Given the description of an element on the screen output the (x, y) to click on. 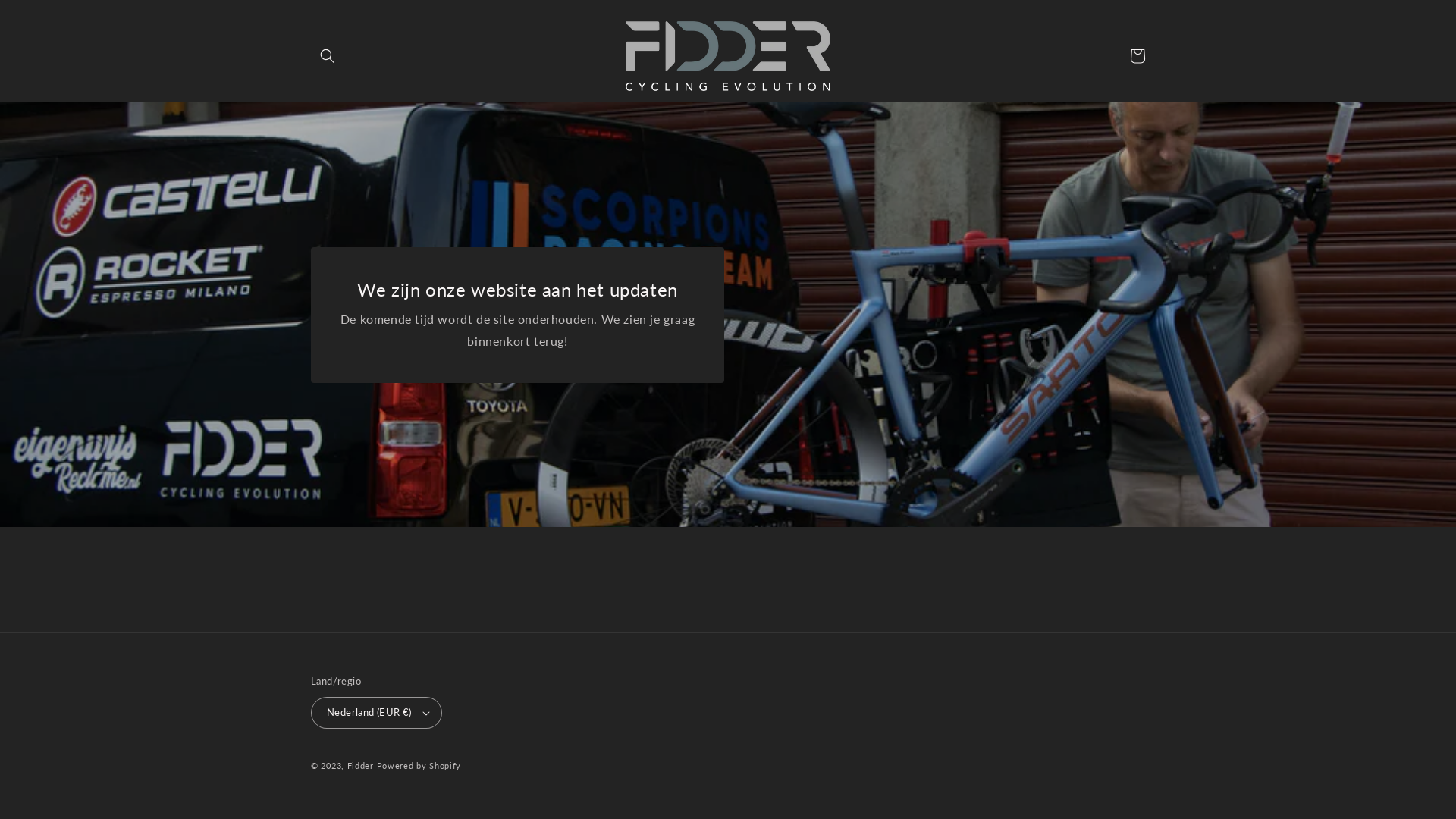
Fidder Element type: text (360, 765)
Winkelwagen Element type: text (1137, 55)
